Given the description of an element on the screen output the (x, y) to click on. 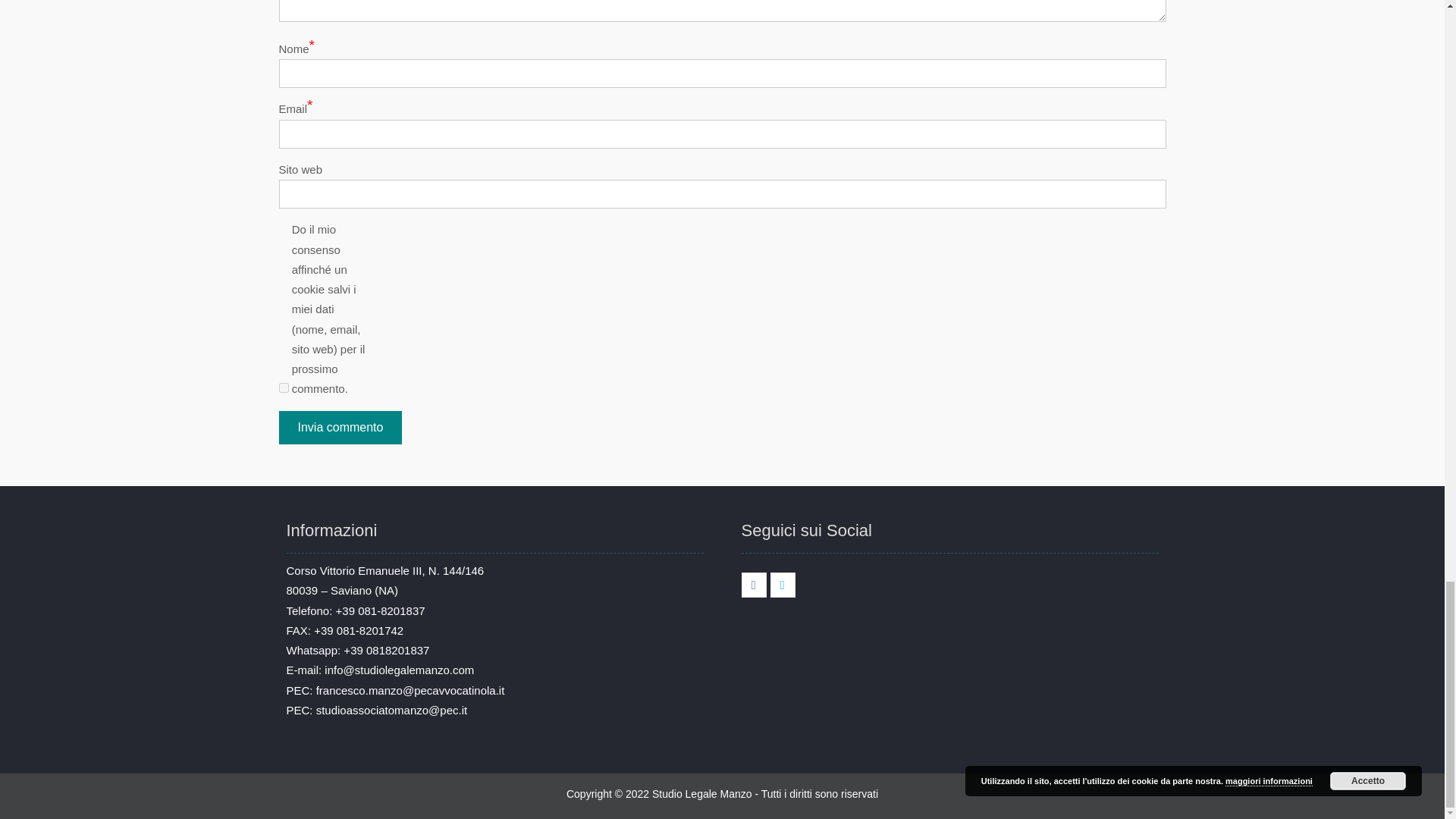
Invia commento (341, 427)
yes (283, 388)
